Given the description of an element on the screen output the (x, y) to click on. 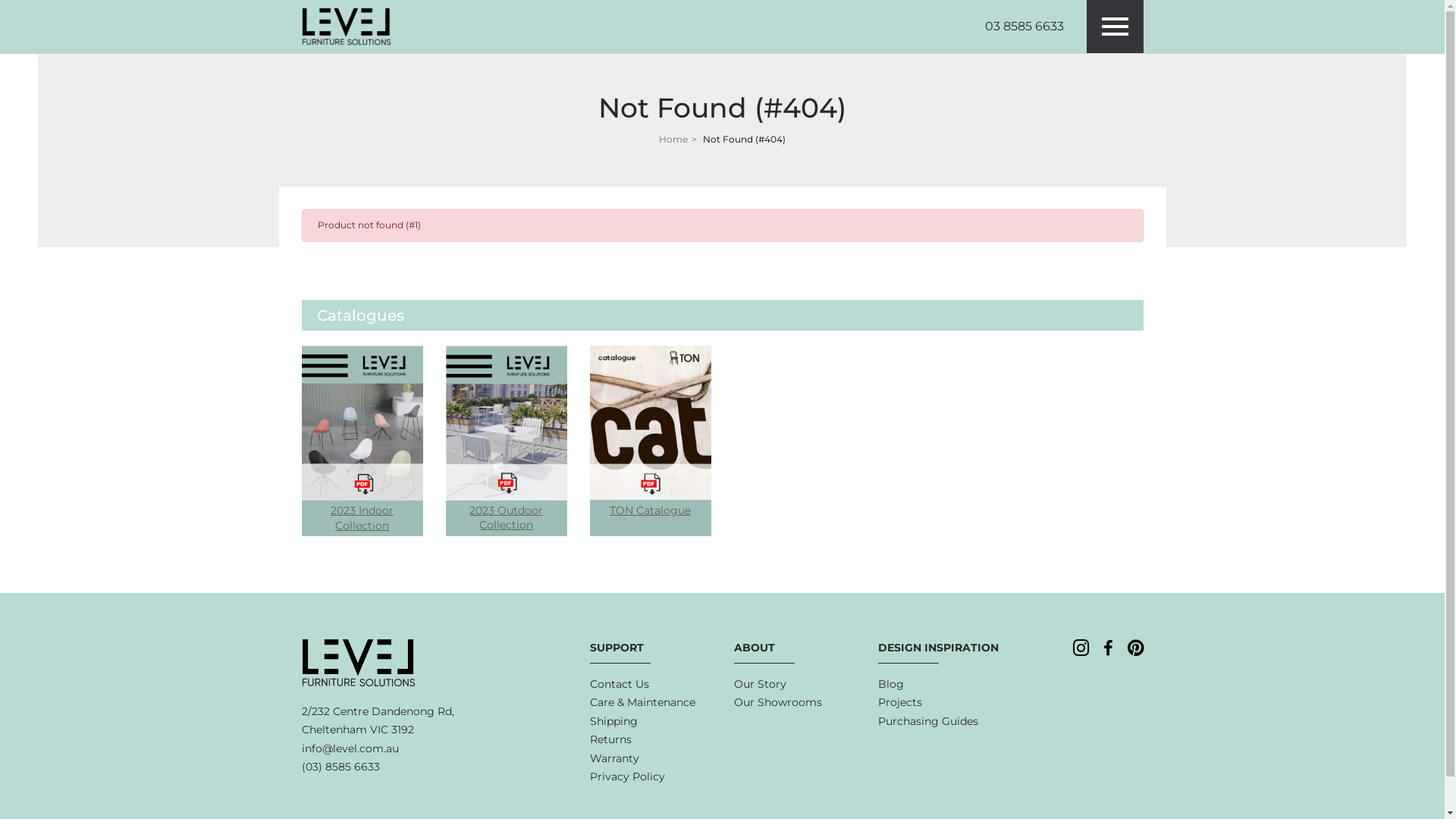
Warranty Element type: text (614, 758)
Our Story Element type: text (760, 683)
Pinterest Element type: hover (1134, 648)
Shipping Element type: text (613, 721)
Our Showrooms Element type: text (778, 702)
(03) 8585 6633 Element type: text (340, 766)
Facebook Element type: hover (1107, 649)
Purchasing Guides Element type: text (928, 721)
TON Catalogue Element type: text (650, 433)
Privacy Policy Element type: text (627, 776)
info@level.com.au Element type: text (349, 748)
Care & Maintenance Element type: text (642, 702)
2023 Outdoor Collection Element type: text (506, 440)
03 8585 6633 Element type: text (1023, 26)
Contact Us Element type: text (619, 683)
Projects Element type: text (900, 702)
Returns Element type: text (610, 739)
2023 Indoor Collection Element type: text (362, 440)
Instagram Element type: hover (1080, 648)
Blog Element type: text (890, 683)
Home Element type: text (672, 138)
